Given the description of an element on the screen output the (x, y) to click on. 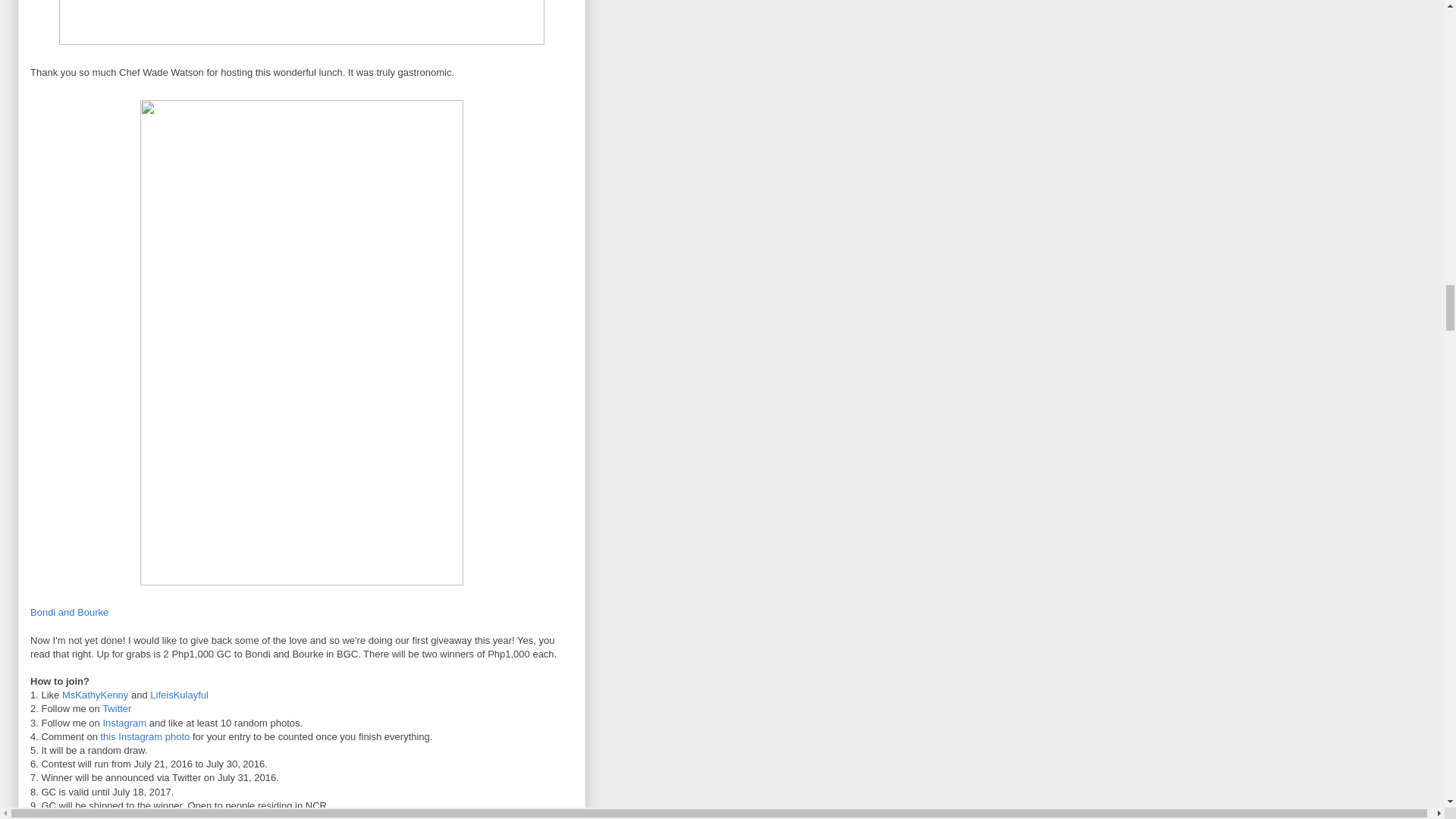
MsKathyKenny (95, 695)
LifeisKulayful (178, 695)
Instagram (124, 722)
Twitter (116, 708)
this Instagram photo (144, 736)
Bondi and Bourke (68, 612)
